Given the description of an element on the screen output the (x, y) to click on. 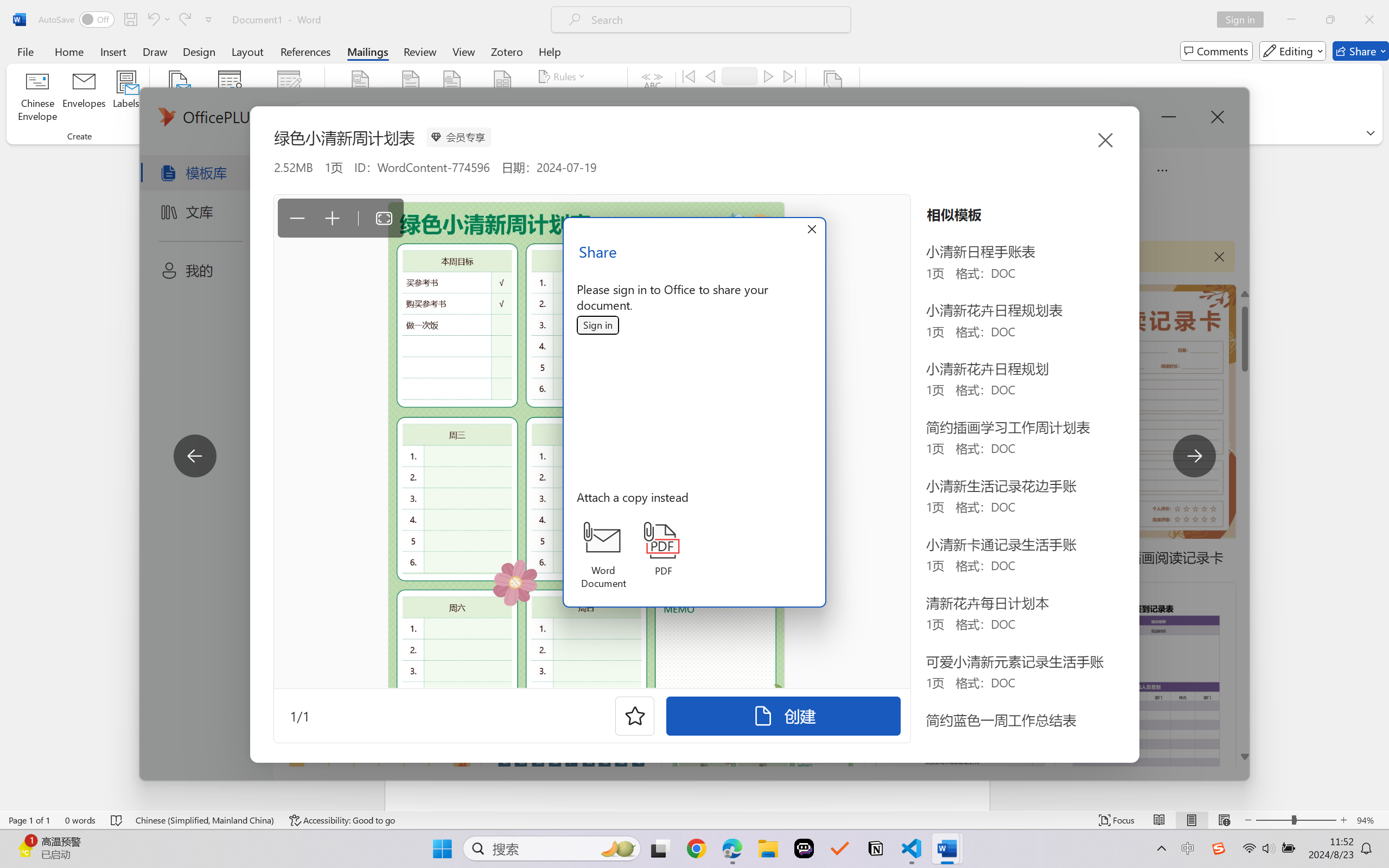
Word Document (603, 555)
